Given the description of an element on the screen output the (x, y) to click on. 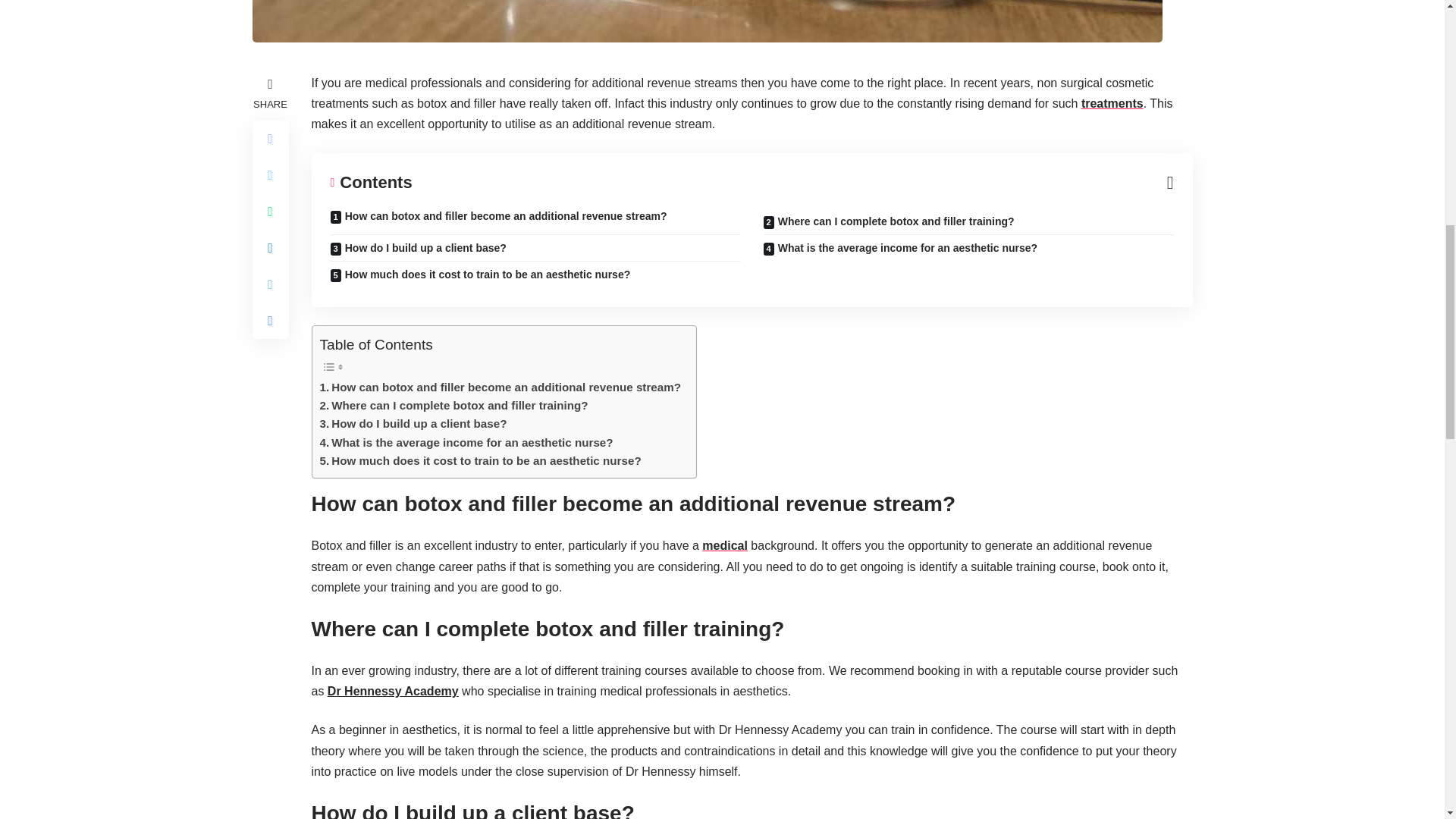
What is the average income for an aesthetic nurse? (466, 443)
How do I build up a client base? (413, 423)
Where can I complete botox and filler training? (454, 405)
How much does it cost to train to be an aesthetic nurse? (481, 461)
